Given the description of an element on the screen output the (x, y) to click on. 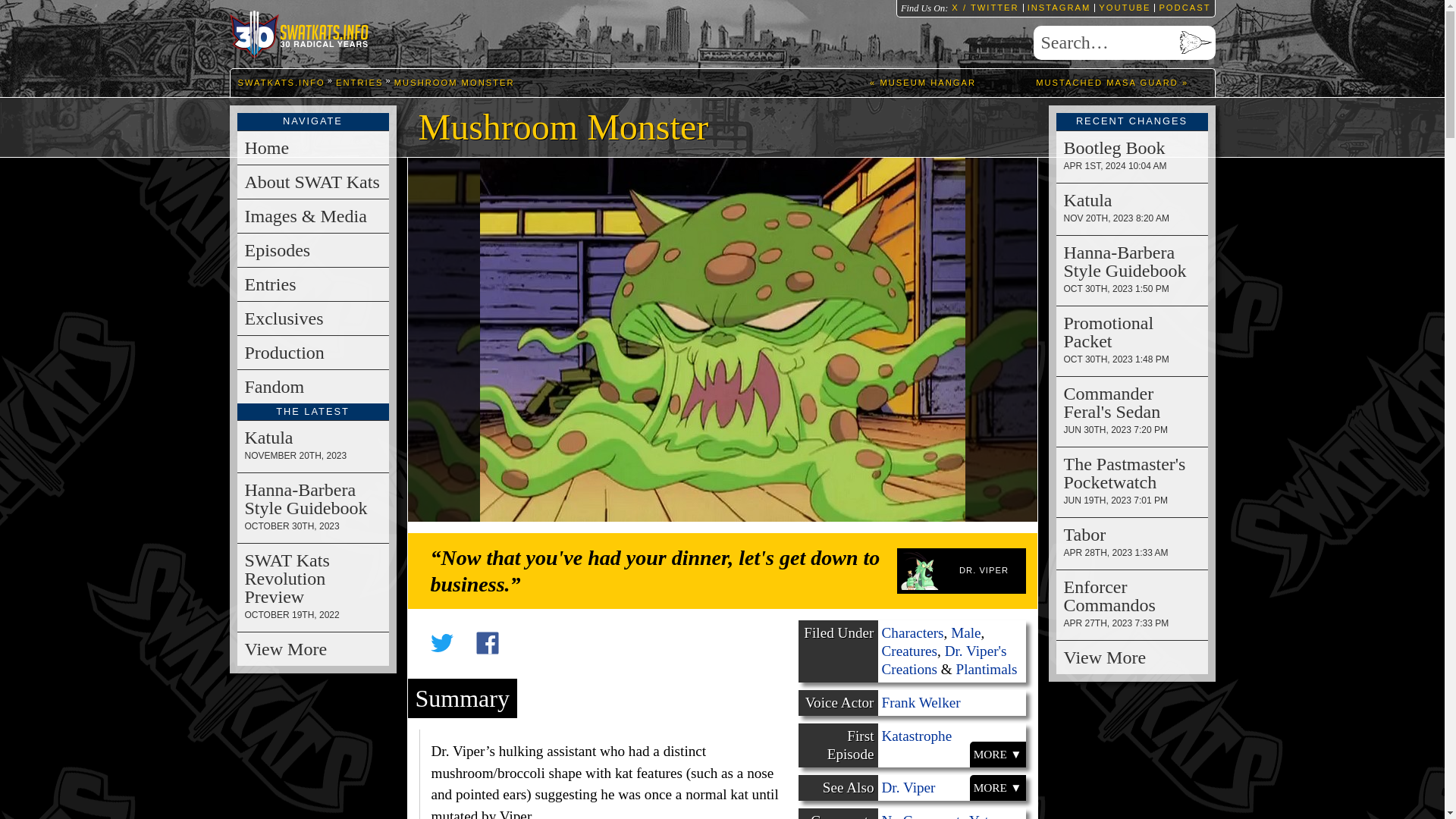
YouTube (1122, 8)
Instagram (1056, 8)
Podcast (1181, 8)
SWATKATS.info (300, 37)
